Given the description of an element on the screen output the (x, y) to click on. 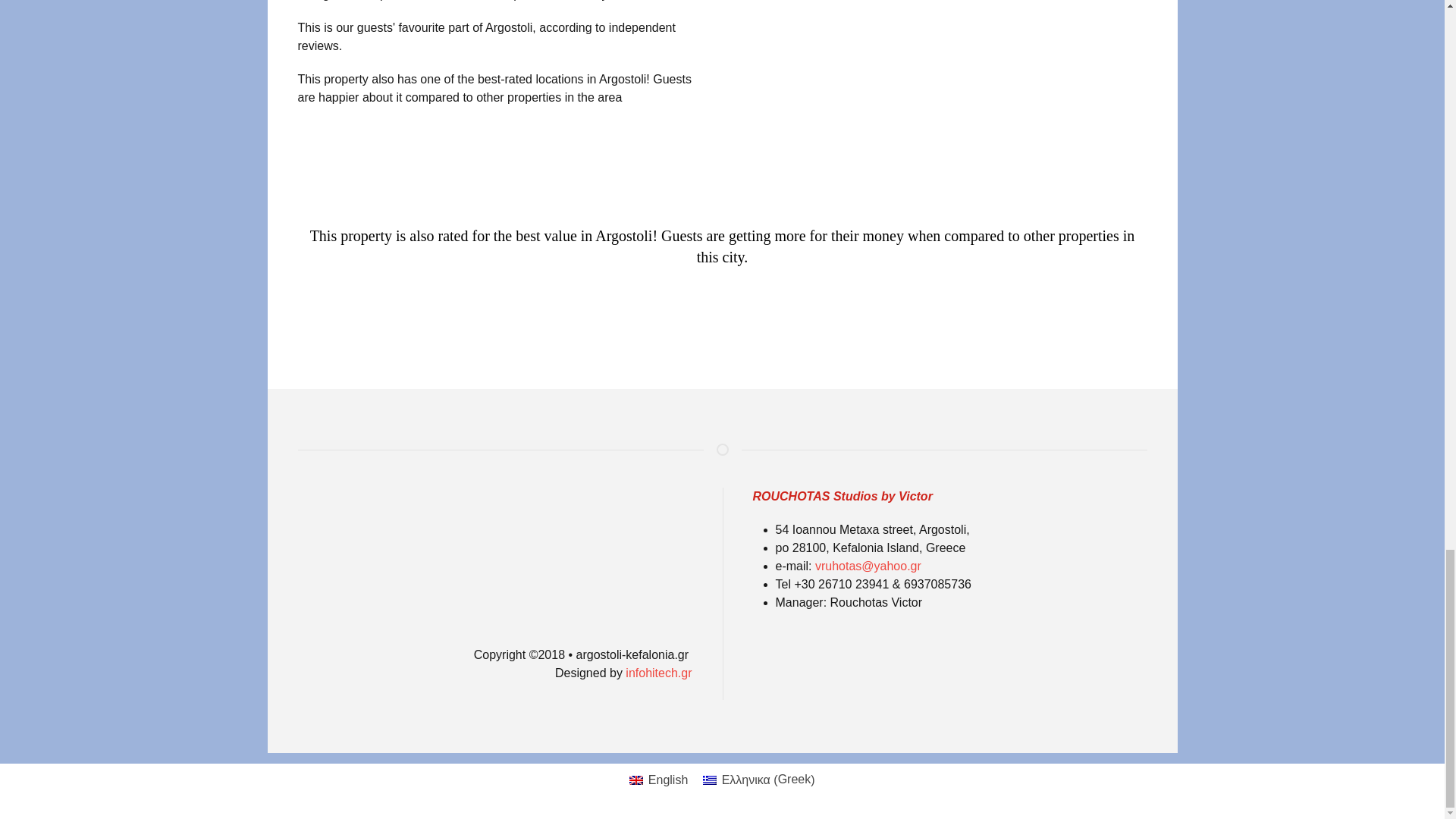
English (635, 779)
English (658, 779)
 infohitech.gr (658, 672)
